Given the description of an element on the screen output the (x, y) to click on. 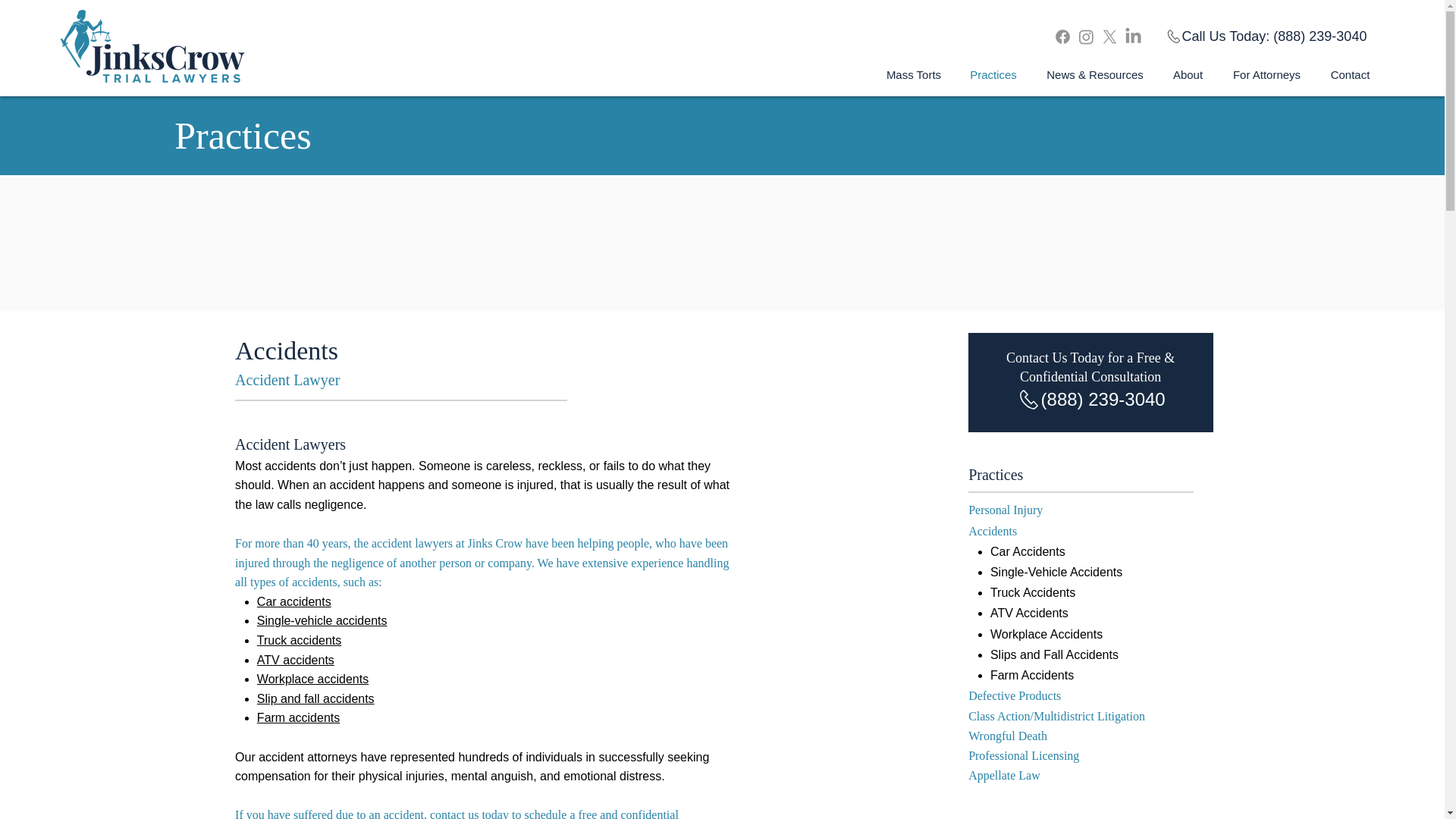
Single-vehicle accidents (322, 620)
About (1187, 74)
Contact (1350, 74)
Practices (992, 74)
Car accidents (294, 601)
Truck accidents (298, 640)
ATV accidents (295, 659)
For Attorneys (1266, 74)
